Given the description of an element on the screen output the (x, y) to click on. 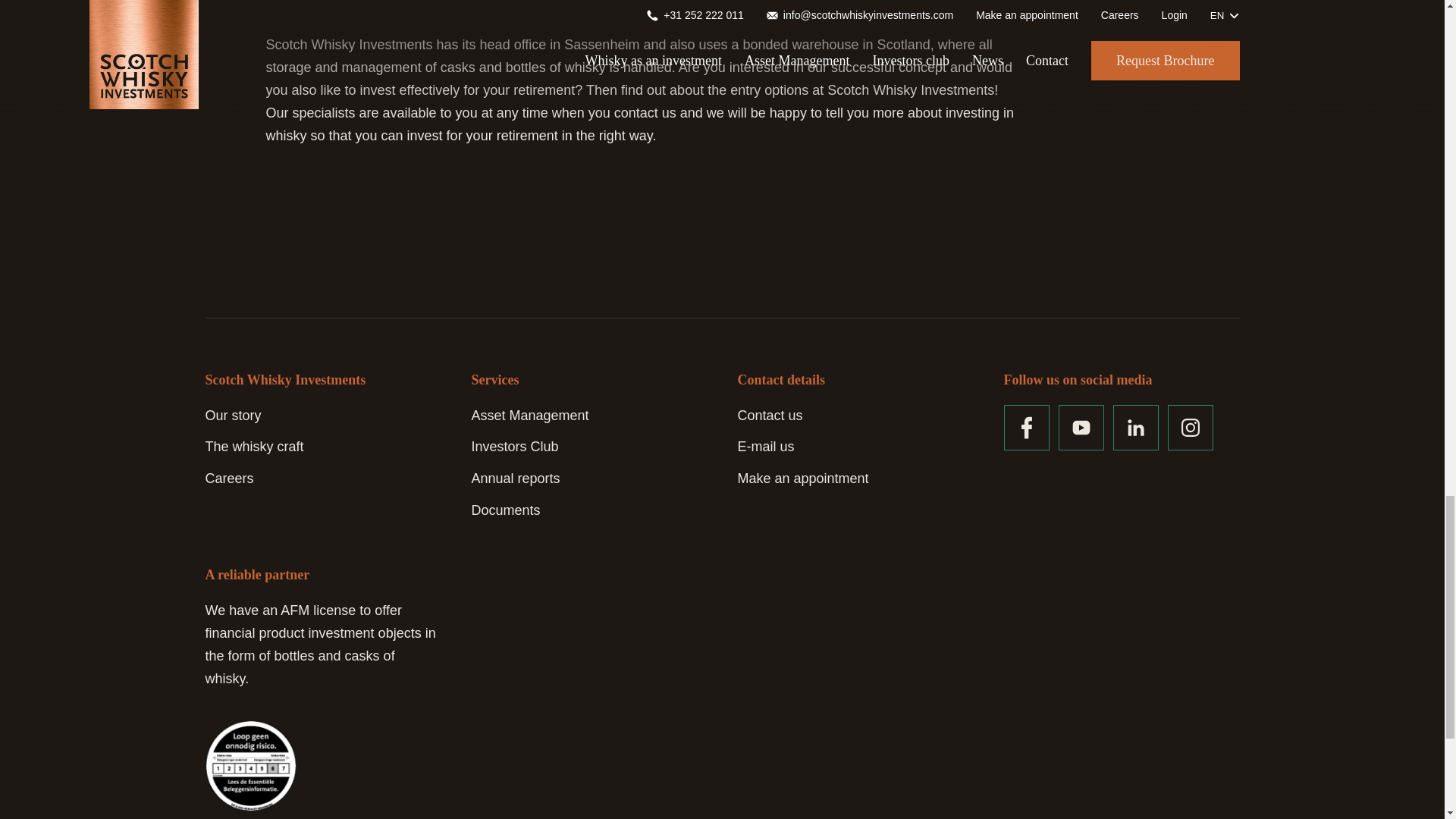
Annual reports (515, 478)
Asset Management (530, 415)
The whisky craft (253, 446)
Documents (505, 509)
Careers (229, 478)
Investors Club (515, 446)
E-mail us (764, 446)
Our story (232, 415)
Contact us (769, 415)
Make an appointment (801, 478)
